Given the description of an element on the screen output the (x, y) to click on. 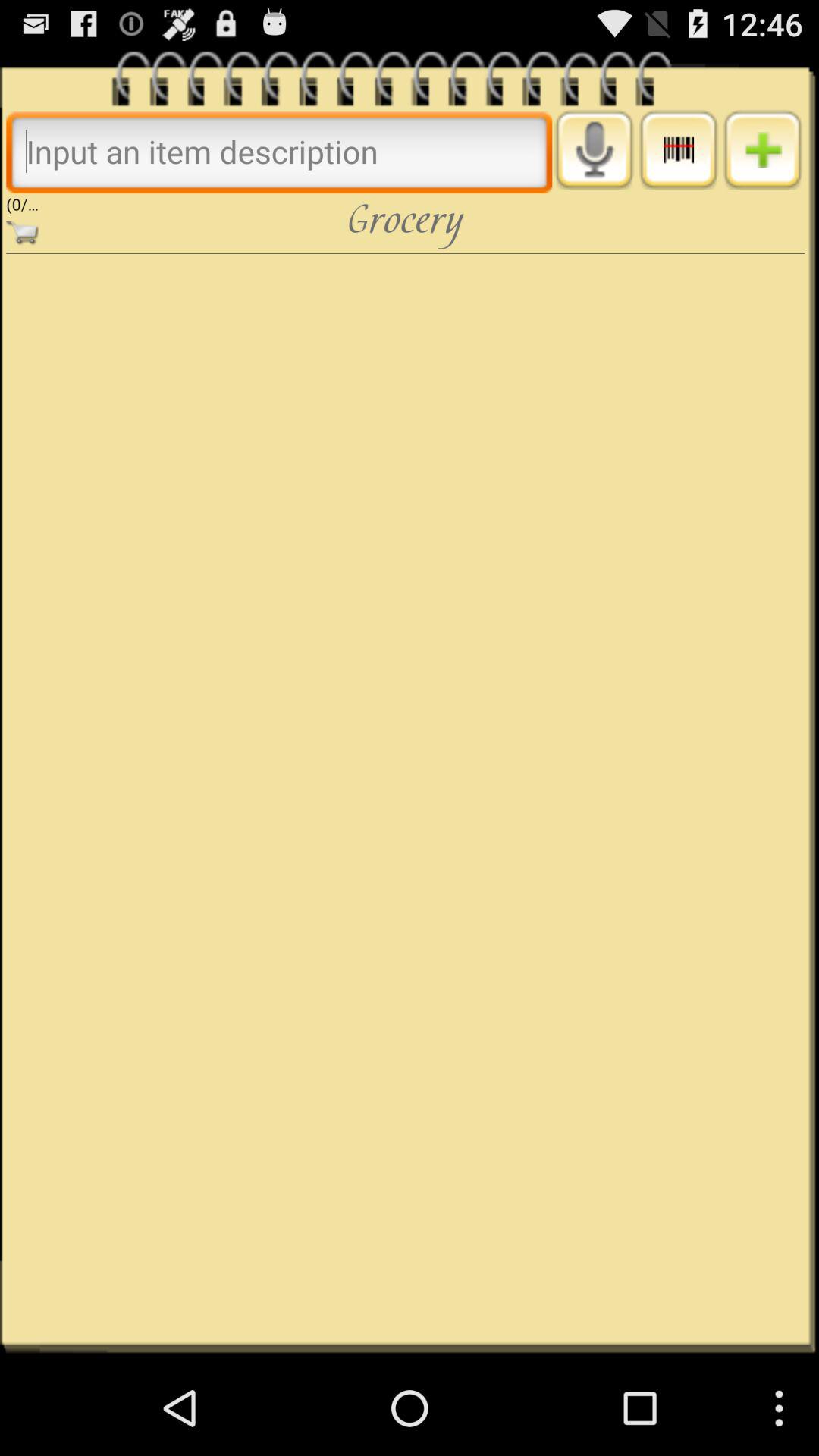
search bar (279, 151)
